Given the description of an element on the screen output the (x, y) to click on. 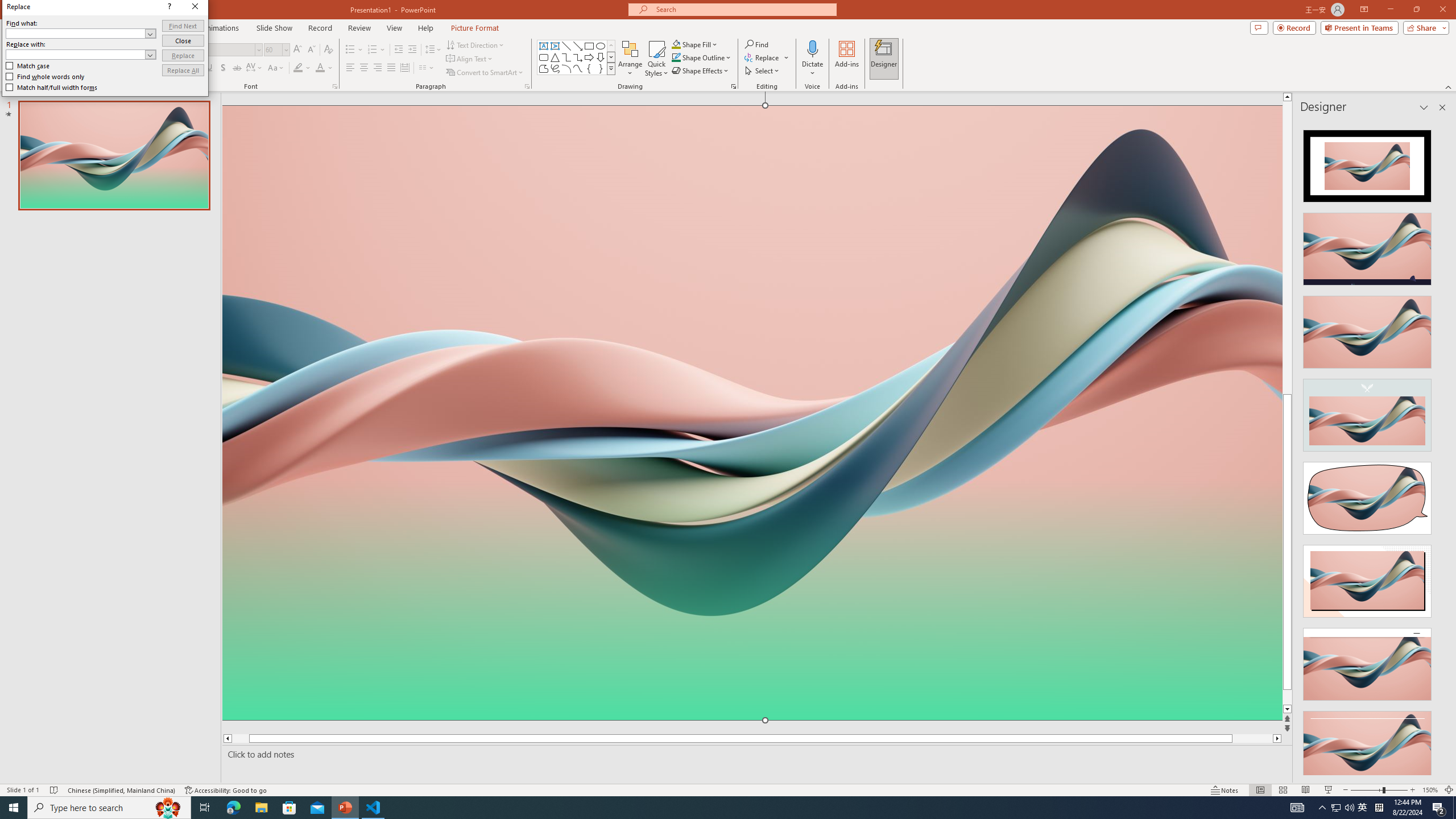
Accessibility Checker Accessibility: Good to go (226, 790)
Arrange (630, 58)
Page up (1287, 247)
Replace with (748, 328)
Layout (143, 44)
Running applications (707, 807)
Paragraph... (526, 85)
Line Arrow (577, 45)
